Given the description of an element on the screen output the (x, y) to click on. 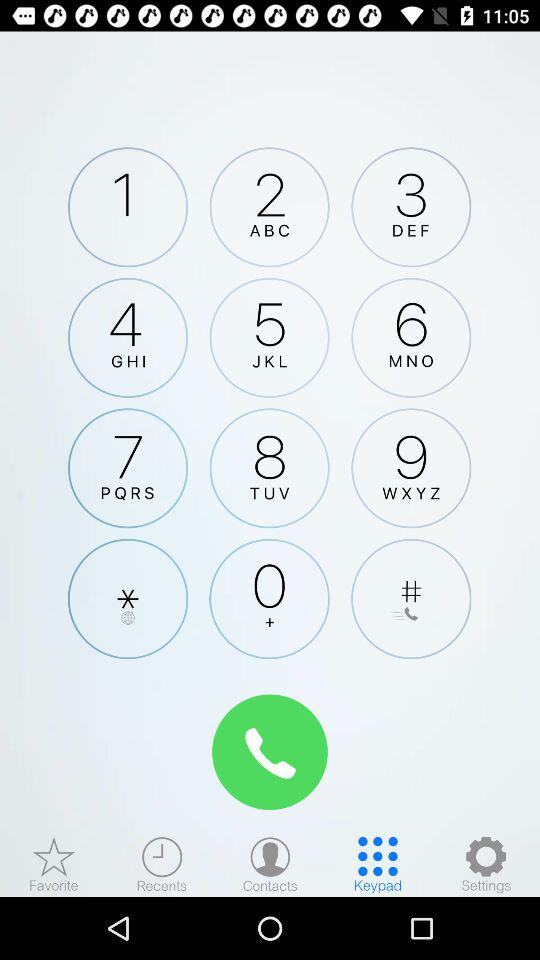
save to favorites (53, 864)
